Given the description of an element on the screen output the (x, y) to click on. 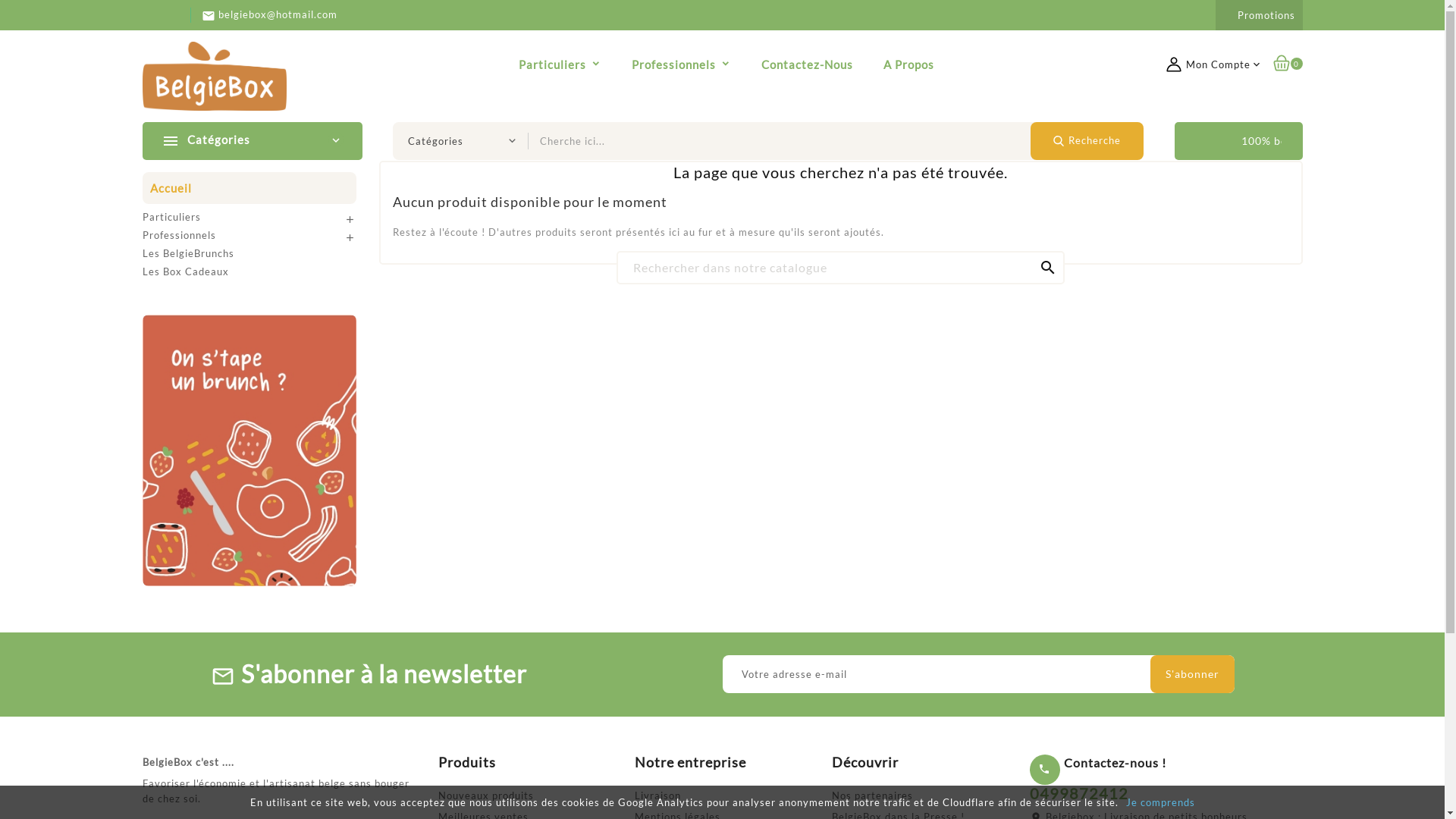
Contactez-Nous Element type: text (806, 64)
BelgieBrunch Element type: hover (249, 448)
Accueil Element type: text (249, 187)
Les BelgieBrunchs Element type: text (188, 253)
BelgieBrunch Element type: hover (249, 450)
Professionnels Element type: text (179, 234)
Professionnels Element type: text (681, 64)
Promotions Element type: text (1266, 15)
S'abonner Element type: text (1191, 674)
Je comprends Element type: text (1159, 802)
Particuliers Element type: text (171, 216)
100% belge Element type: text (1193, 140)
Recherche Element type: text (1086, 141)
Livraison Element type: text (657, 795)
Particuliers Element type: text (558, 64)
Les Box Cadeaux Element type: text (185, 271)
Nos partenaires Element type: text (872, 795)
A Propos Element type: text (908, 64)
Nouveaux produits Element type: text (485, 795)
